Given the description of an element on the screen output the (x, y) to click on. 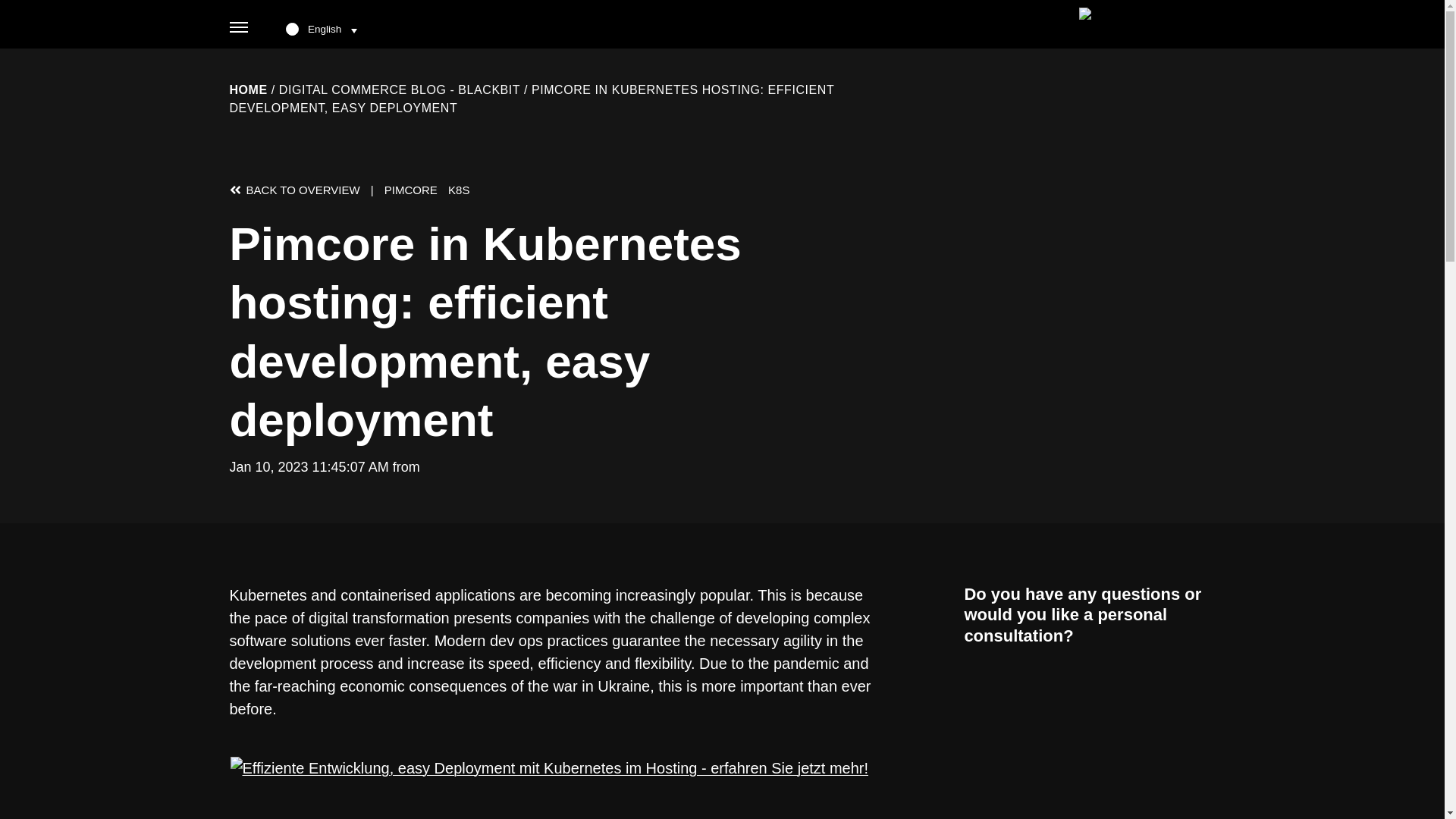
BACK TO OVERVIEW (295, 189)
K8S (458, 189)
HOME (247, 89)
PIMCORE (411, 189)
DIGITAL COMMERCE BLOG - BLACKBIT (399, 89)
